Given the description of an element on the screen output the (x, y) to click on. 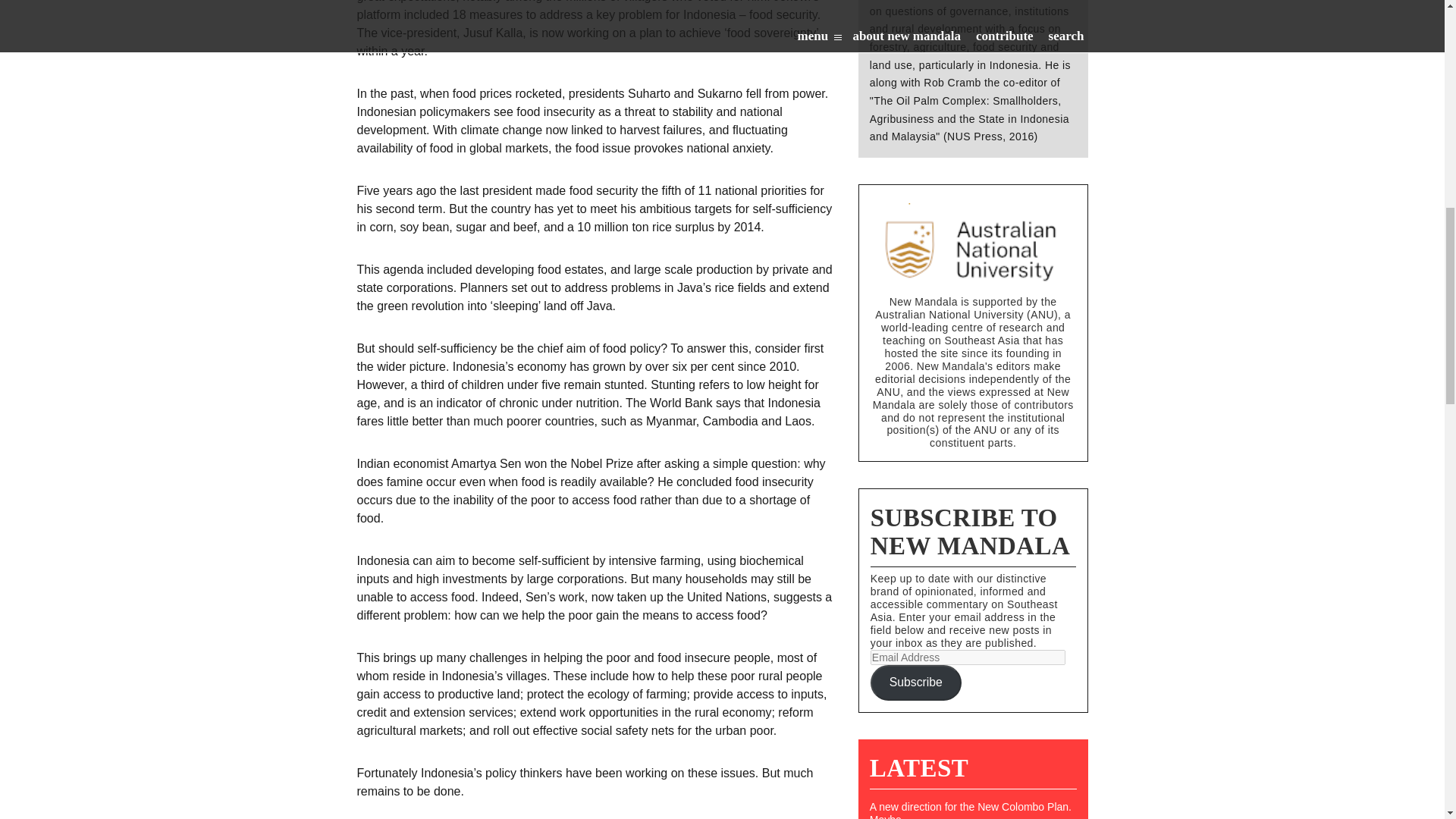
LATEST (918, 768)
A new direction for the New Colombo Plan. Maybe. (973, 809)
Subscribe (915, 683)
